Given the description of an element on the screen output the (x, y) to click on. 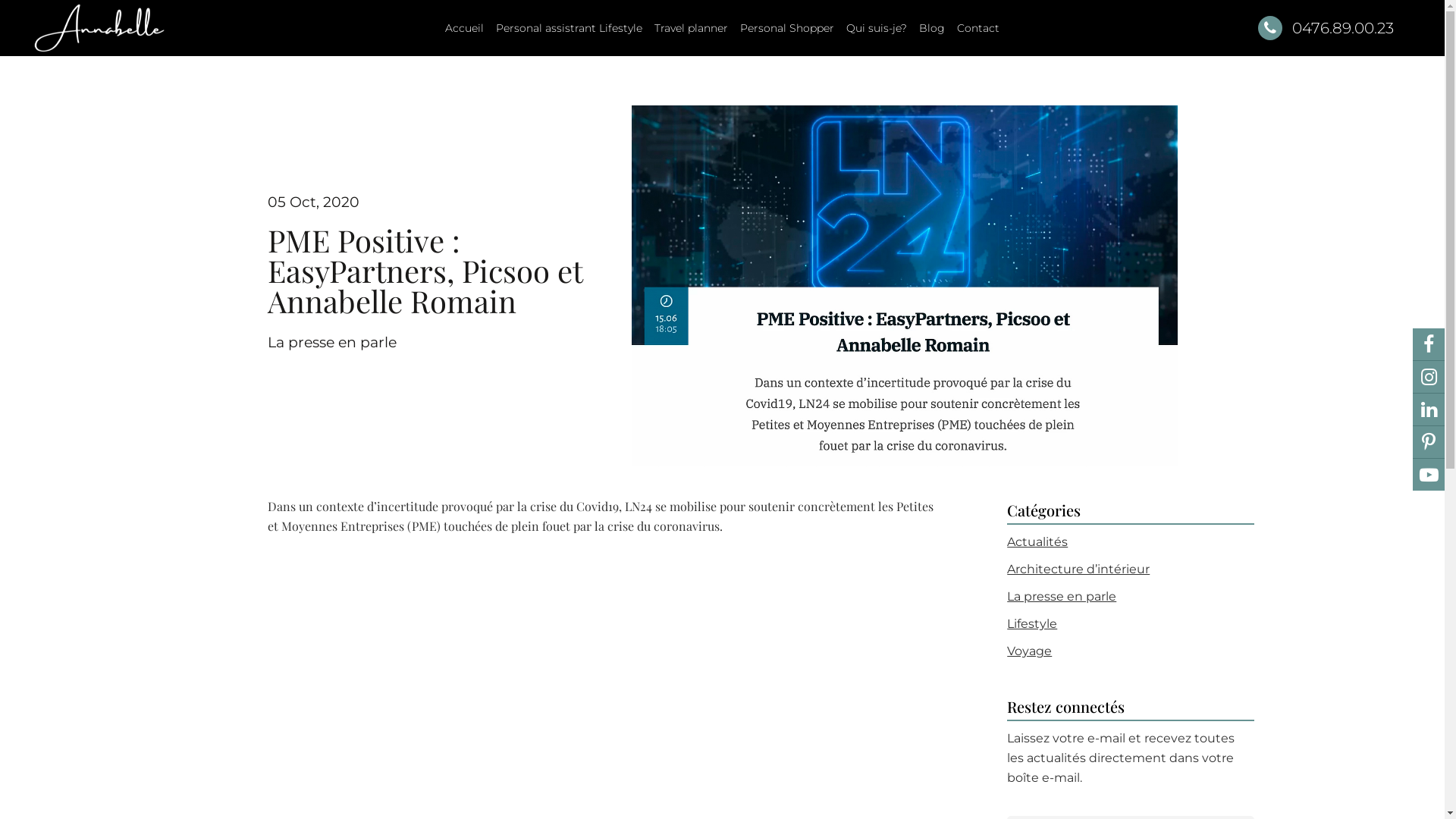
La presse en parle Element type: text (1061, 596)
Blog Element type: text (931, 28)
Travel planner Element type: text (691, 28)
0476.89.00.23 Element type: text (1325, 27)
Accueil Element type: text (464, 28)
Personal Shopper Element type: text (787, 28)
Personal assistrant Lifestyle Element type: text (568, 28)
Qui suis-je? Element type: text (876, 28)
Contact Element type: text (977, 28)
Voyage Element type: text (1029, 650)
Lifestyle Element type: text (1032, 623)
La presse en parle Element type: text (330, 342)
